Given the description of an element on the screen output the (x, y) to click on. 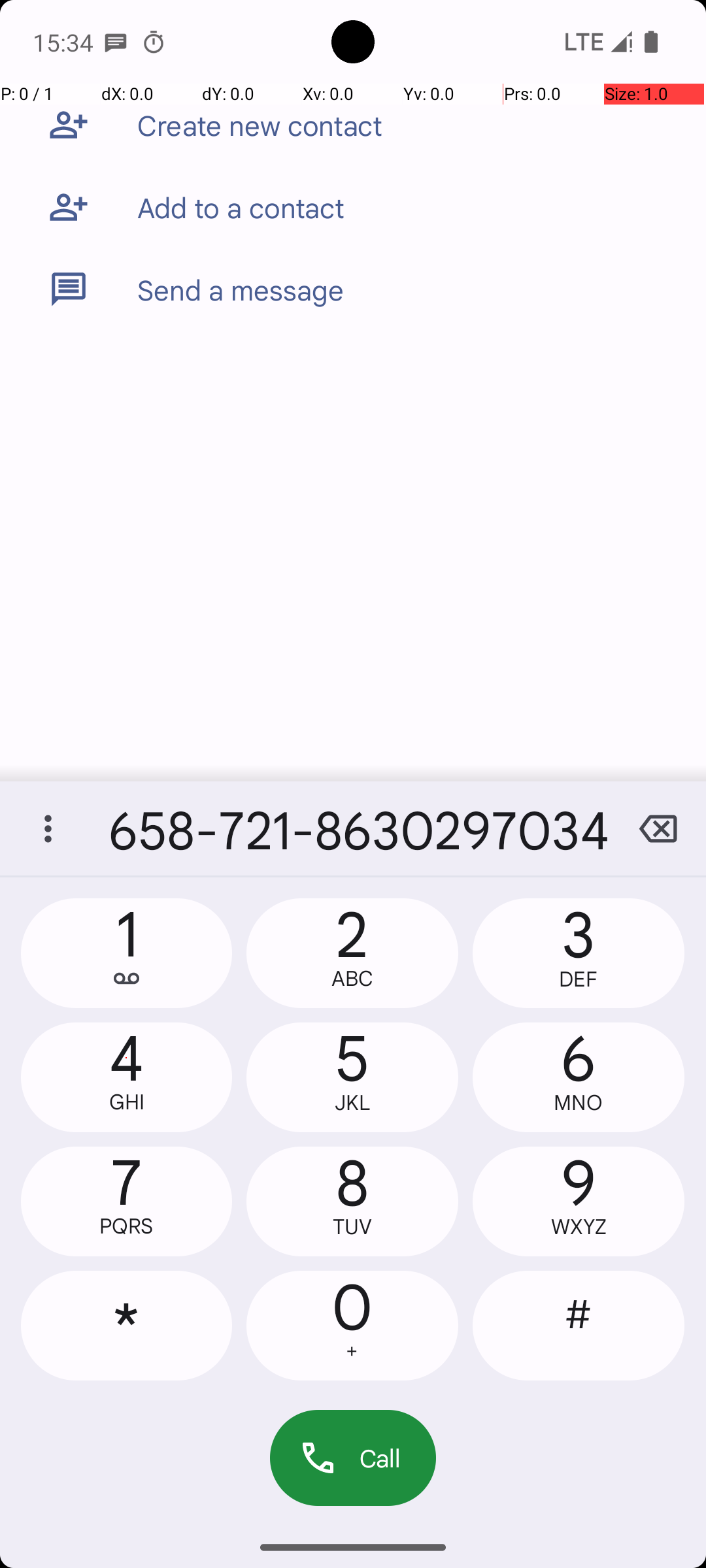
+1 658-721-8630297034 Element type: android.widget.EditText (352, 828)
